Given the description of an element on the screen output the (x, y) to click on. 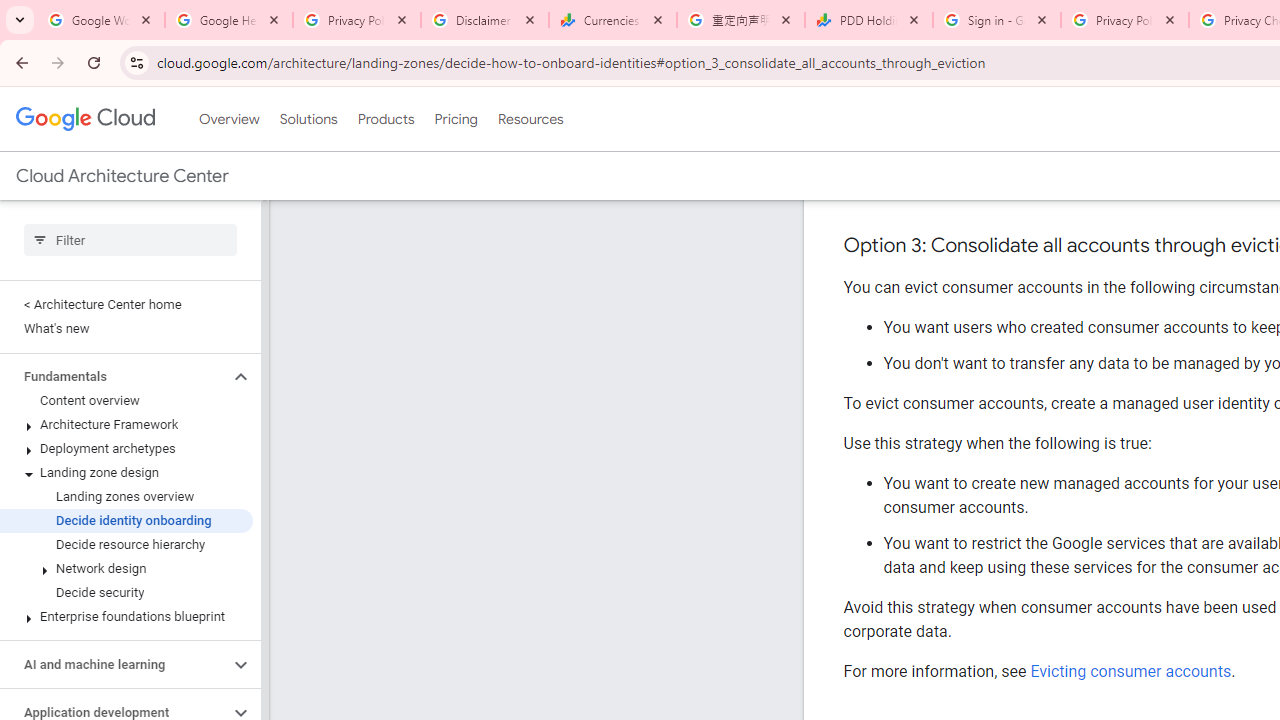
What's new (126, 328)
Migrating consumer accounts (1136, 187)
Sign in - Google Accounts (997, 20)
Network design (126, 569)
Products (385, 119)
Solutions (308, 119)
Content overview (126, 400)
AI and machine learning (114, 664)
Architecture Framework (126, 425)
Decide identity onboarding (126, 520)
Fundamentals (114, 376)
Landing zone design (126, 472)
